Given the description of an element on the screen output the (x, y) to click on. 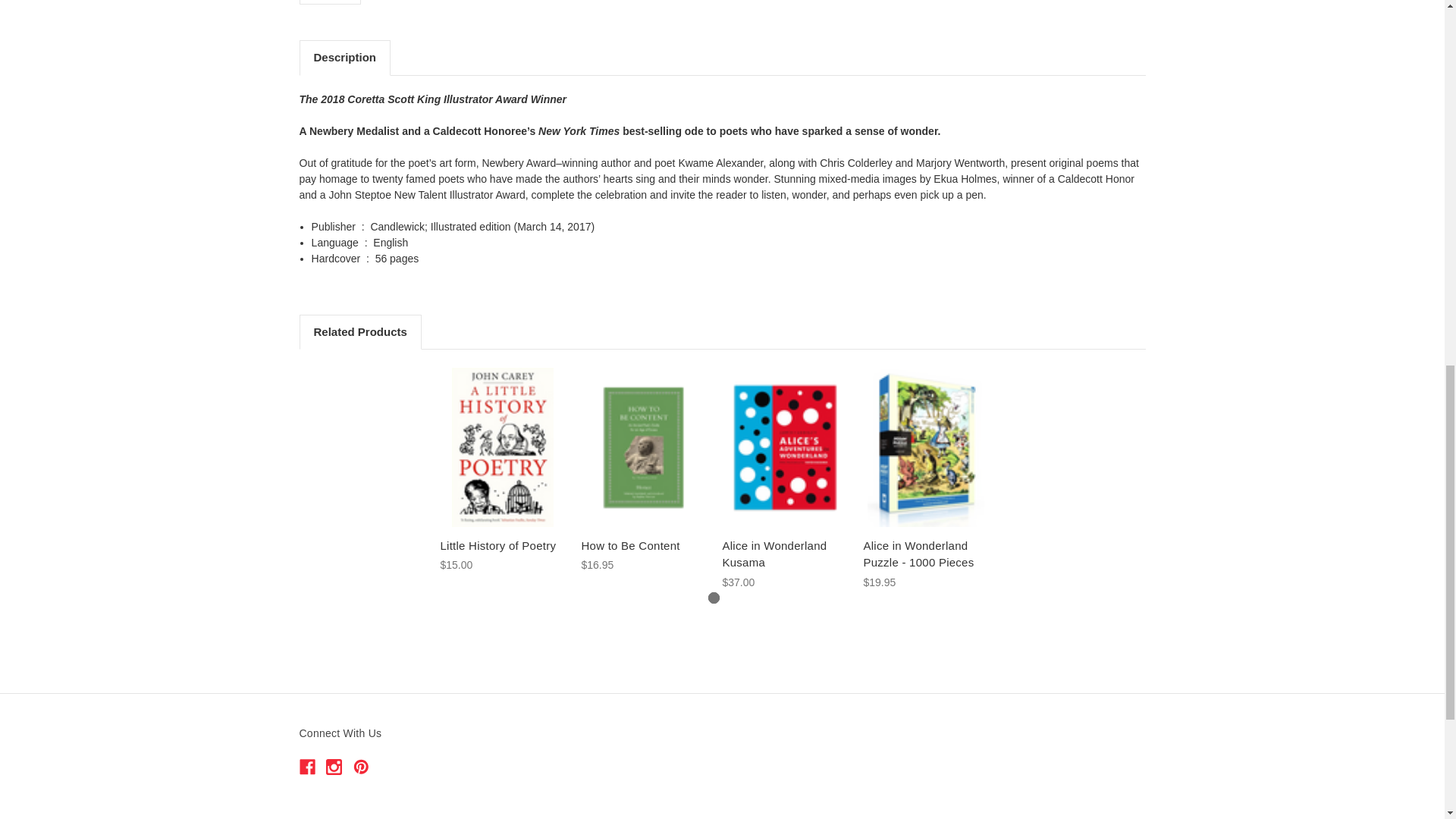
Out of Wonder: Poems Celebrating Poets (330, 1)
Facebook (306, 766)
Pinterest (361, 766)
Instagram (334, 766)
